Given the description of an element on the screen output the (x, y) to click on. 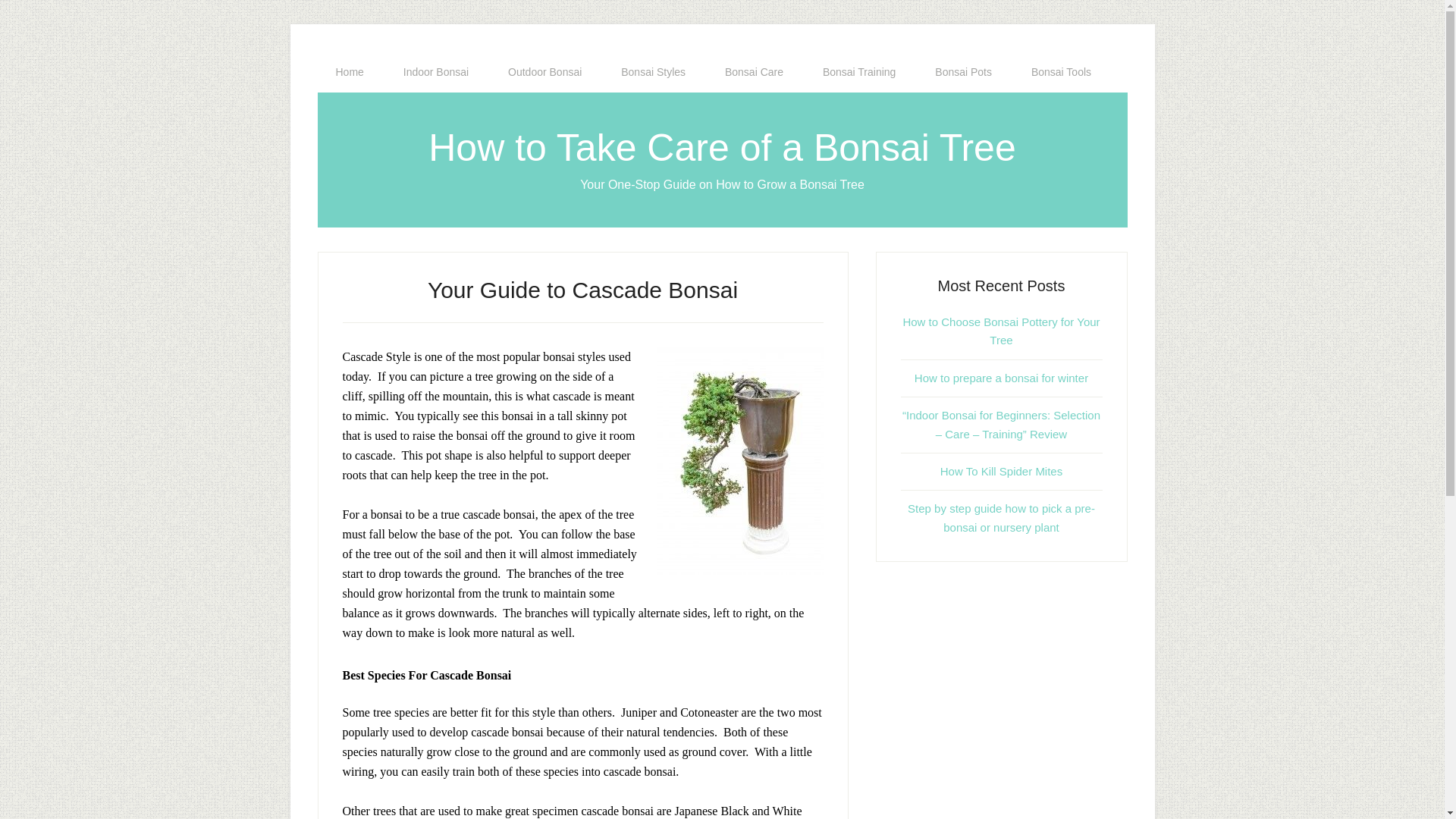
How to Choose Bonsai Pottery for Your Tree (1000, 330)
Bonsai Tools (1061, 71)
Indoor Bonsai (435, 71)
How to prepare a bonsai for winter (1000, 377)
Bonsai Pots (963, 71)
Bonsai Care (754, 71)
Bonsai Styles (652, 71)
Step by step guide how to pick a pre-bonsai or nursery plant (1000, 517)
Outdoor Bonsai (544, 71)
Bonsai Training (859, 71)
How to Take Care of a Bonsai Tree (722, 147)
How To Kill Spider Mites (1001, 471)
Home (349, 71)
